Given the description of an element on the screen output the (x, y) to click on. 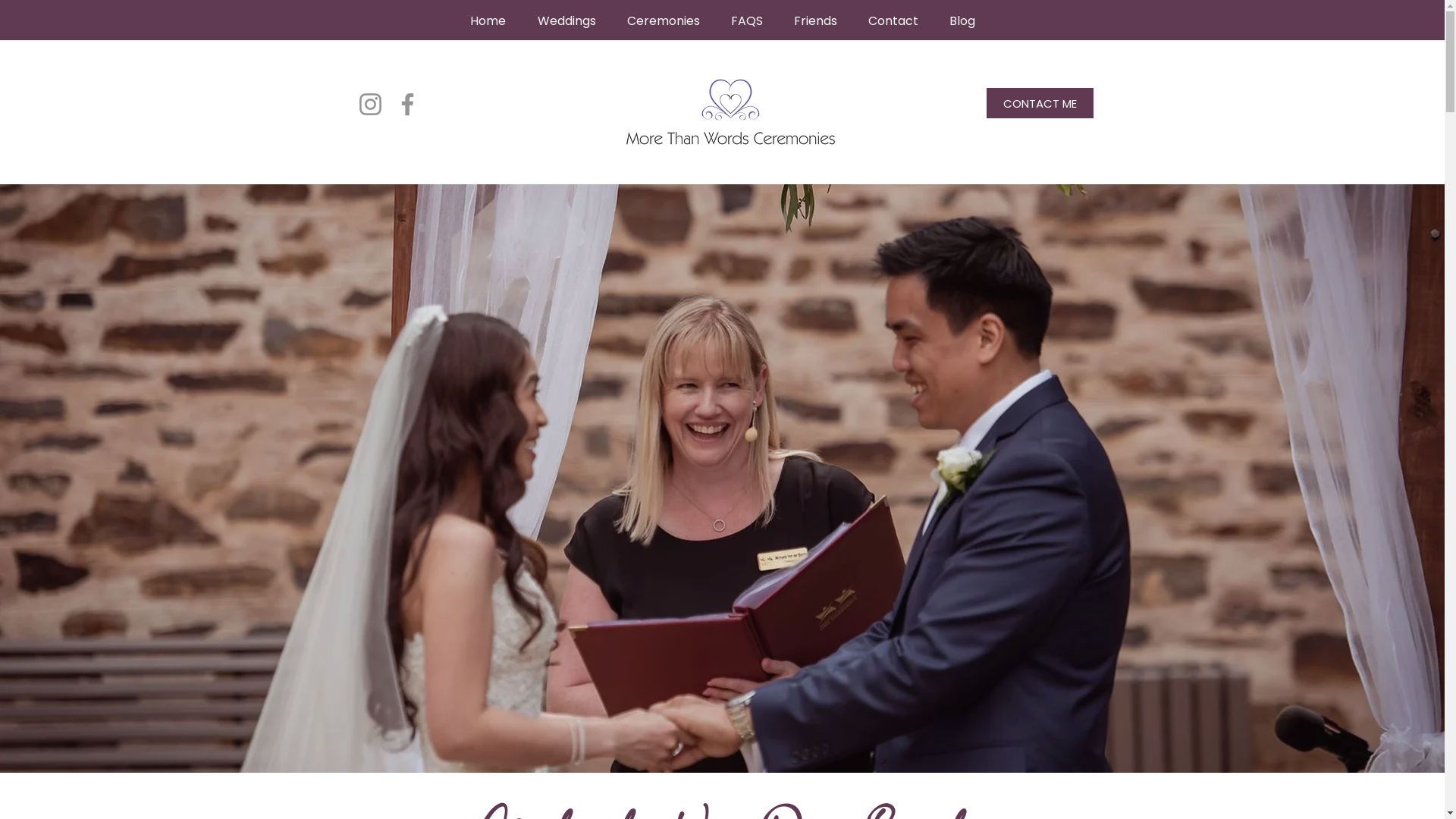
Home Element type: text (486, 20)
Contact Element type: text (892, 20)
Ceremonies Element type: text (663, 20)
Weddings Element type: text (566, 20)
Blog Element type: text (962, 20)
CONTACT ME Element type: text (1038, 102)
FAQS Element type: text (746, 20)
Friends Element type: text (815, 20)
